Given the description of an element on the screen output the (x, y) to click on. 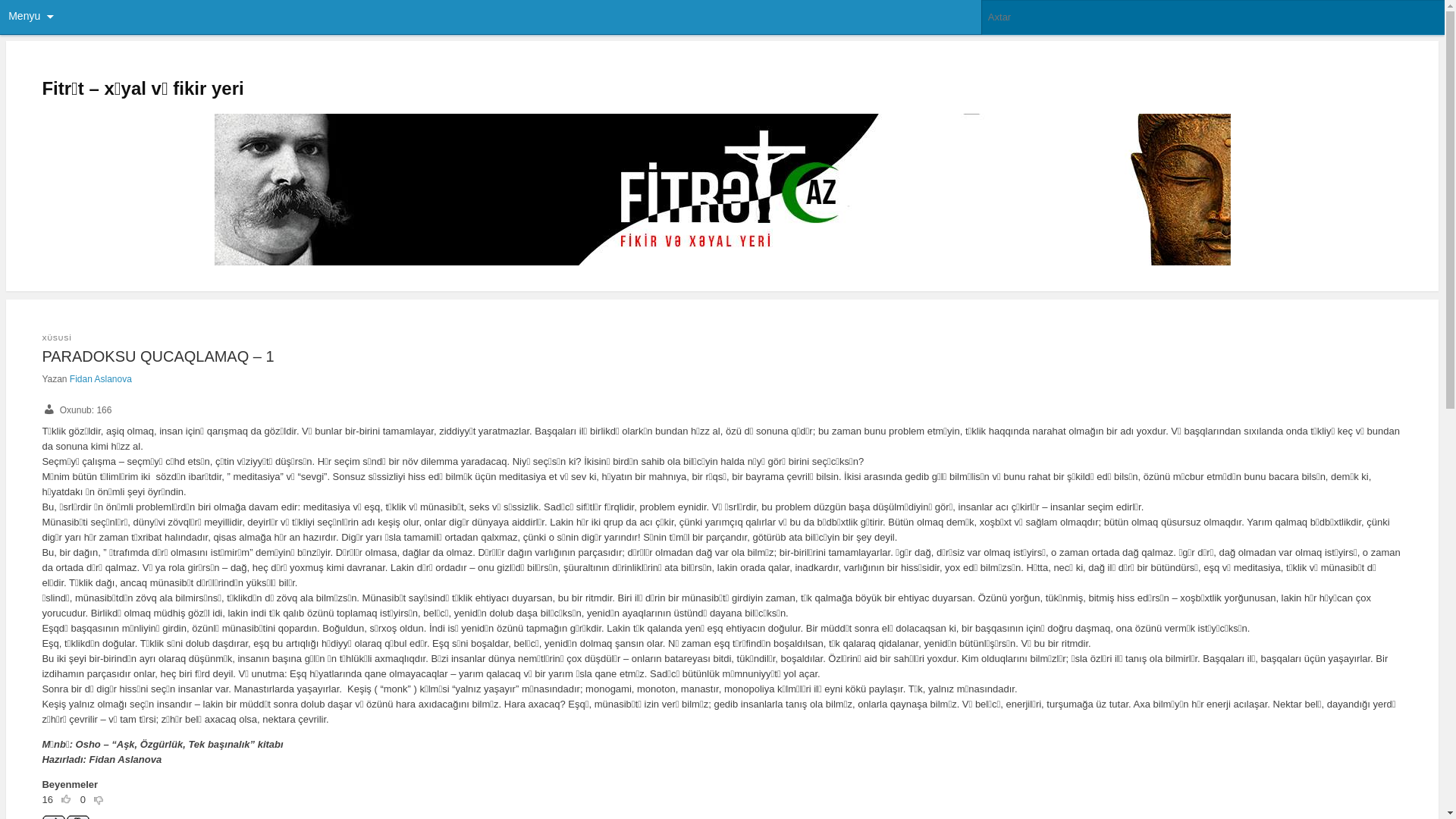
  Element type: text (99, 801)
Thumbs Down! Element type: hover (99, 801)
Axtar Element type: text (17, 7)
  Element type: text (67, 801)
Fidan Aslanova Element type: text (100, 378)
Thumbs Up! Element type: hover (67, 801)
